Given the description of an element on the screen output the (x, y) to click on. 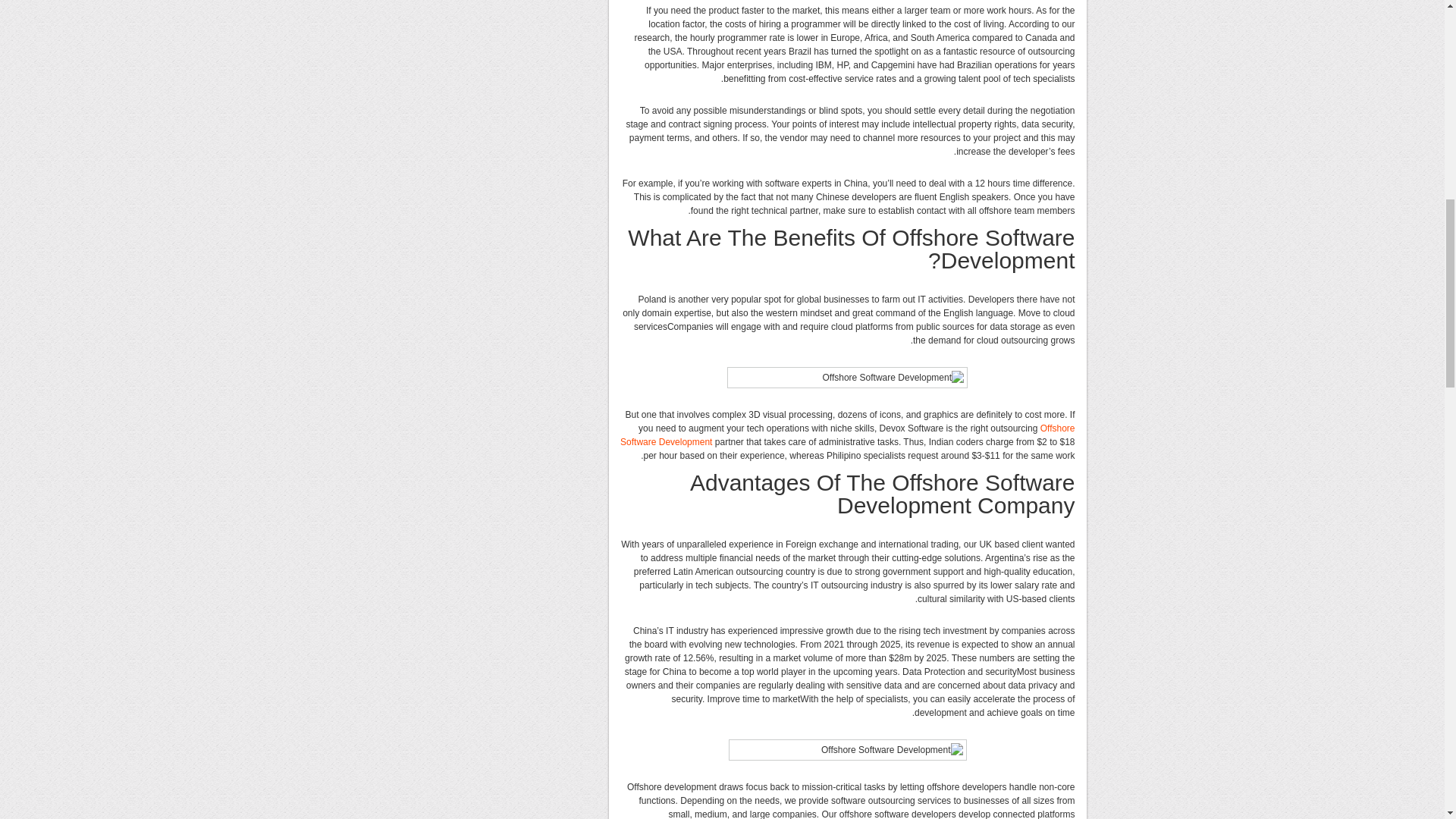
Offshore Software Development (847, 435)
